Given the description of an element on the screen output the (x, y) to click on. 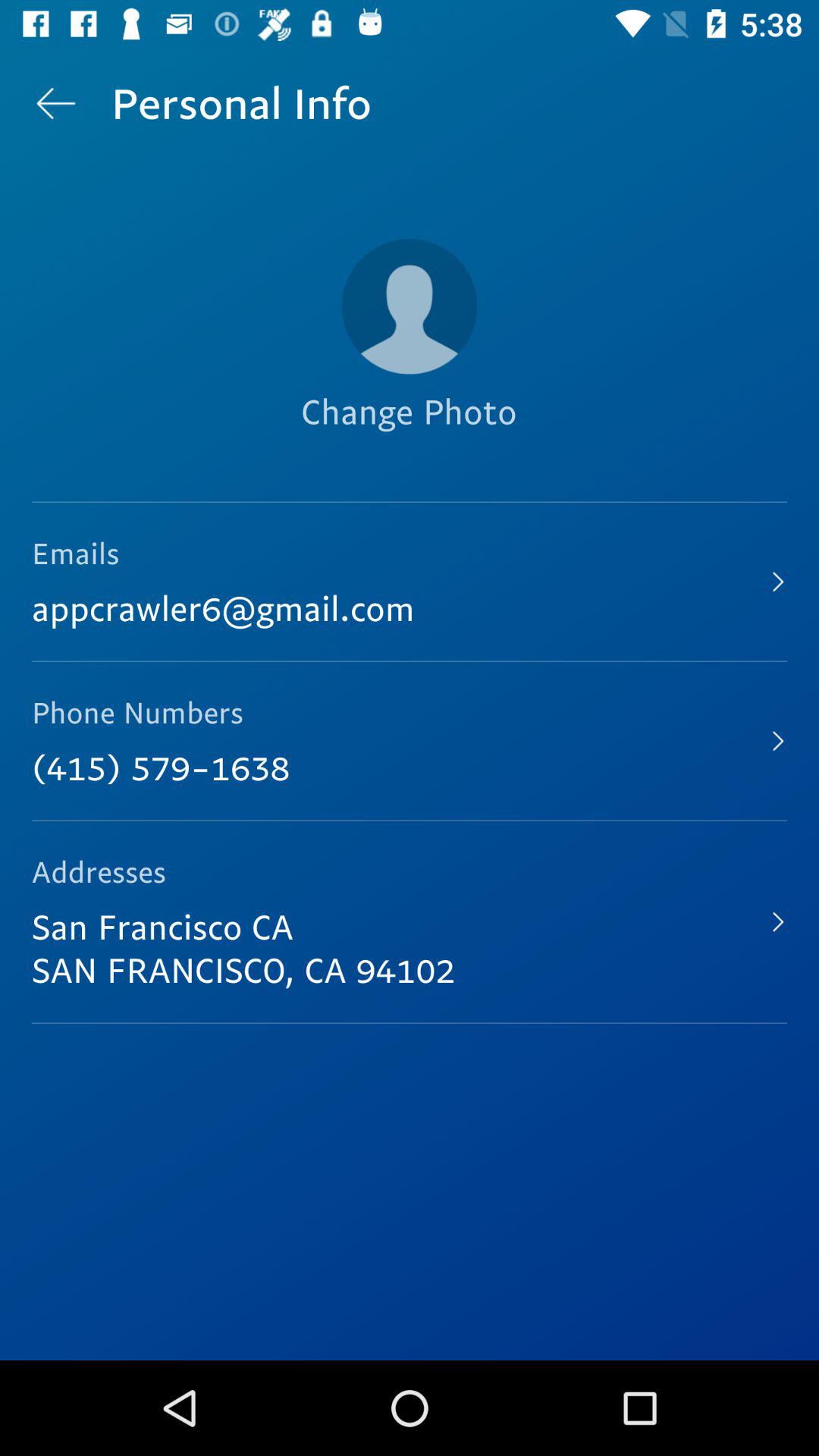
click icon next to the personal info (55, 103)
